Given the description of an element on the screen output the (x, y) to click on. 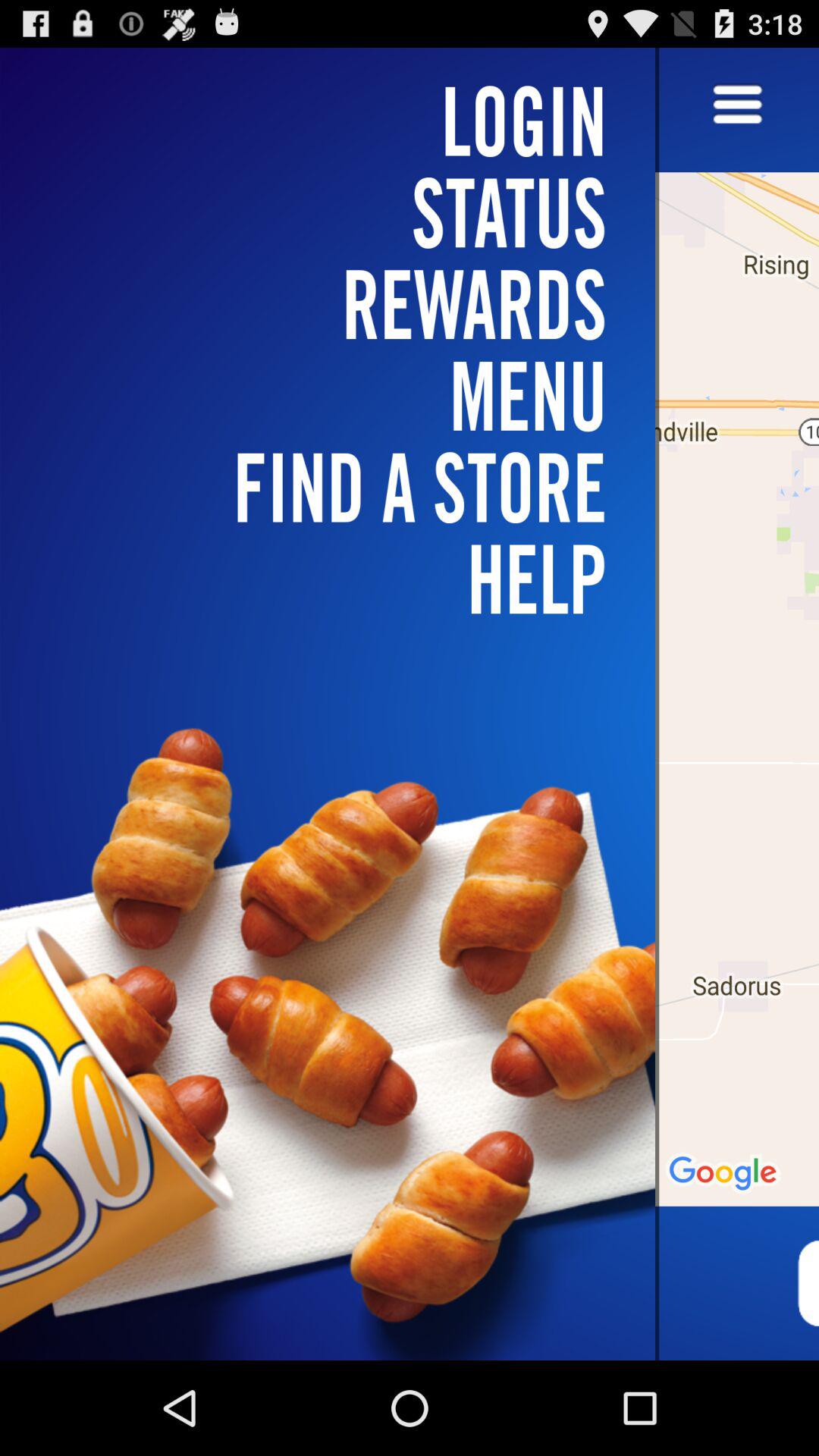
interactive map (737, 703)
